Given the description of an element on the screen output the (x, y) to click on. 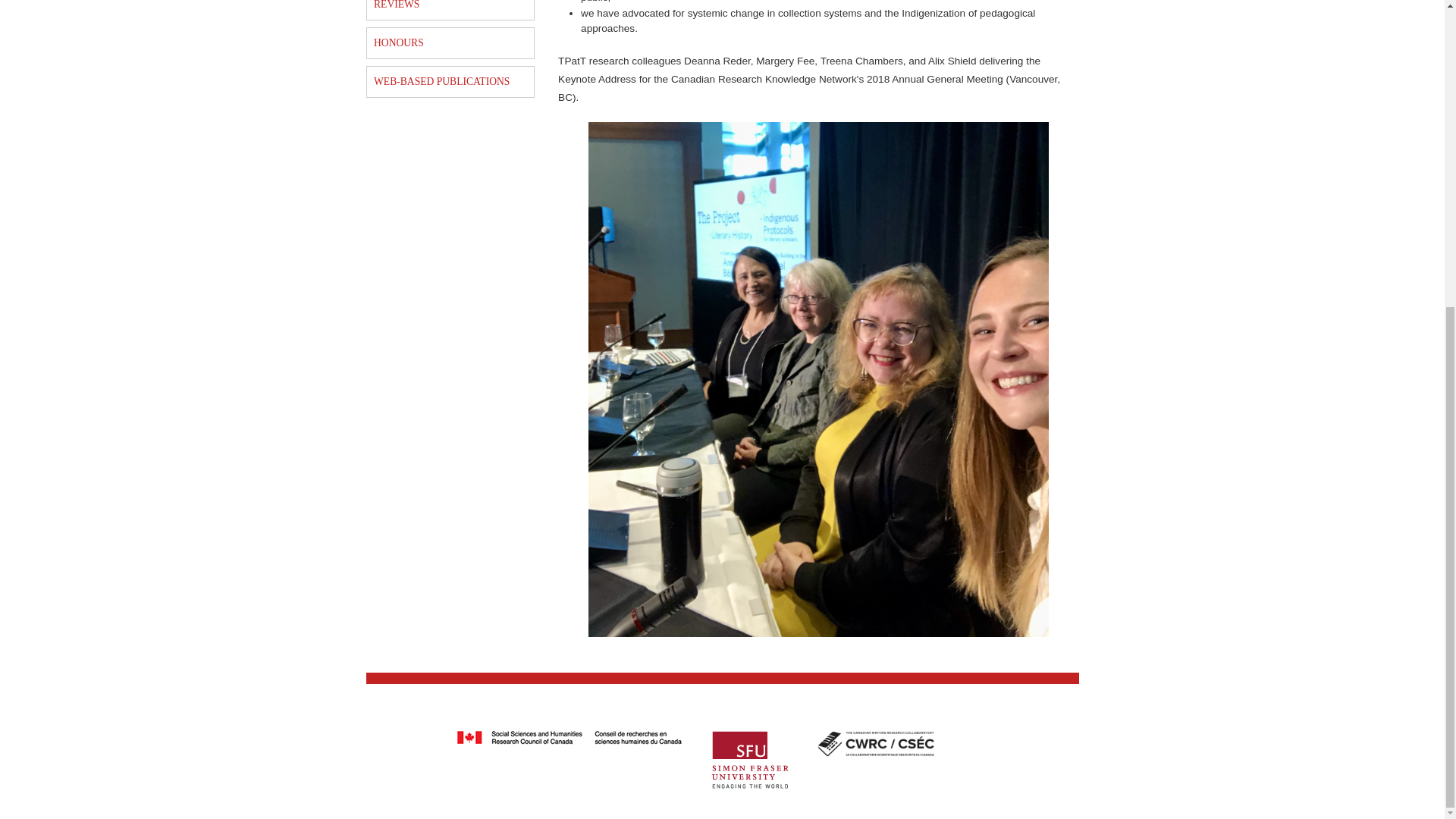
HONOURS (450, 42)
REVIEWS (450, 9)
WEB-BASED PUBLICATIONS (450, 81)
